Given the description of an element on the screen output the (x, y) to click on. 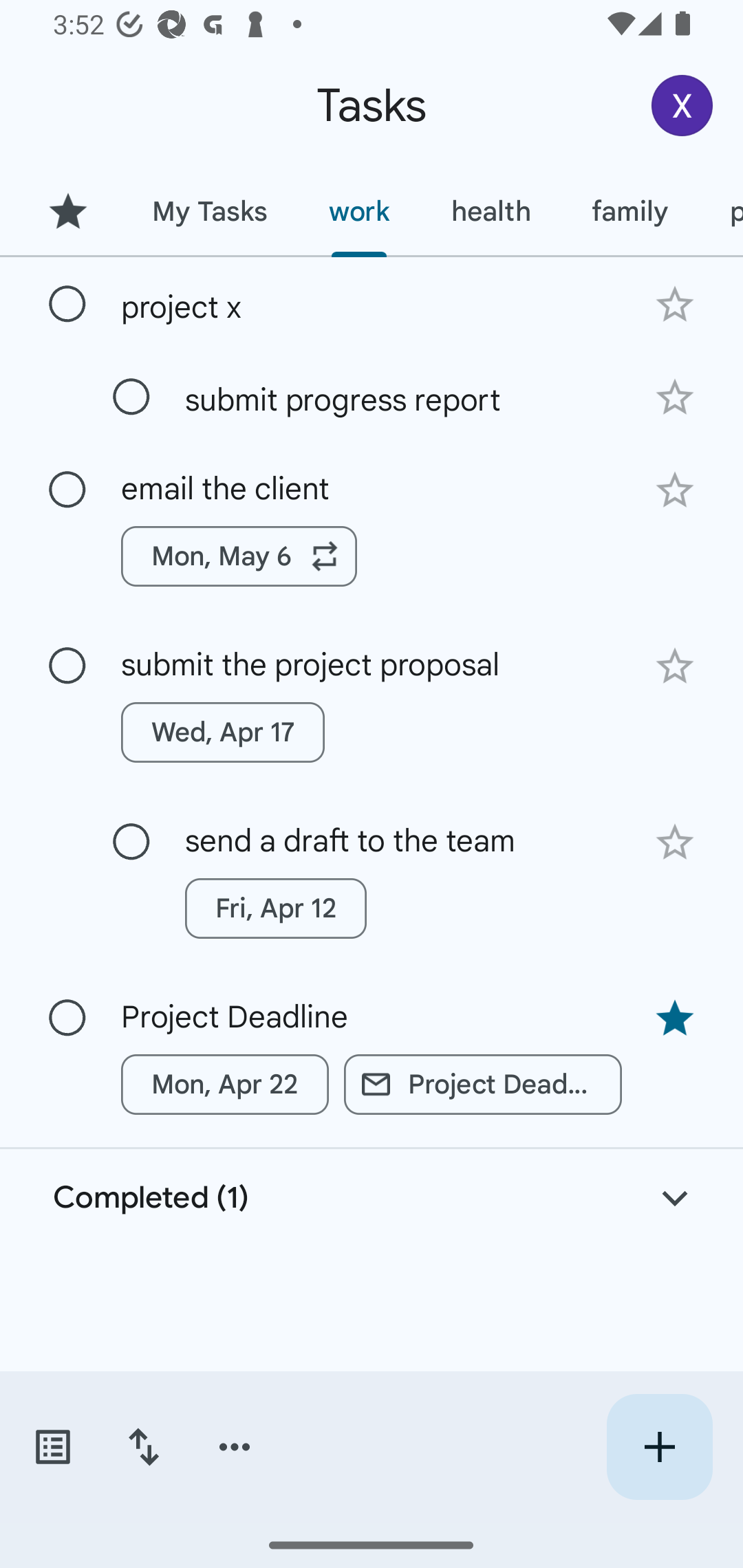
Starred (67, 211)
My Tasks (209, 211)
health (490, 211)
family (629, 211)
Add star (674, 303)
Mark as complete (67, 304)
Add star (674, 397)
Mark as complete (131, 397)
Add star (674, 490)
Mark as complete (67, 489)
Mon, May 6 (239, 556)
Add star (674, 665)
Mark as complete (67, 666)
Wed, Apr 17 (222, 731)
Add star (674, 841)
Mark as complete (131, 842)
Fri, Apr 12 (276, 907)
Remove star (674, 1018)
Mark as complete (67, 1018)
Mon, Apr 22 (225, 1084)
Project Deadline Related link (482, 1084)
Completed (1) (371, 1198)
Switch task lists (52, 1447)
Create new task (659, 1446)
Change sort order (143, 1446)
More options (234, 1446)
